Given the description of an element on the screen output the (x, y) to click on. 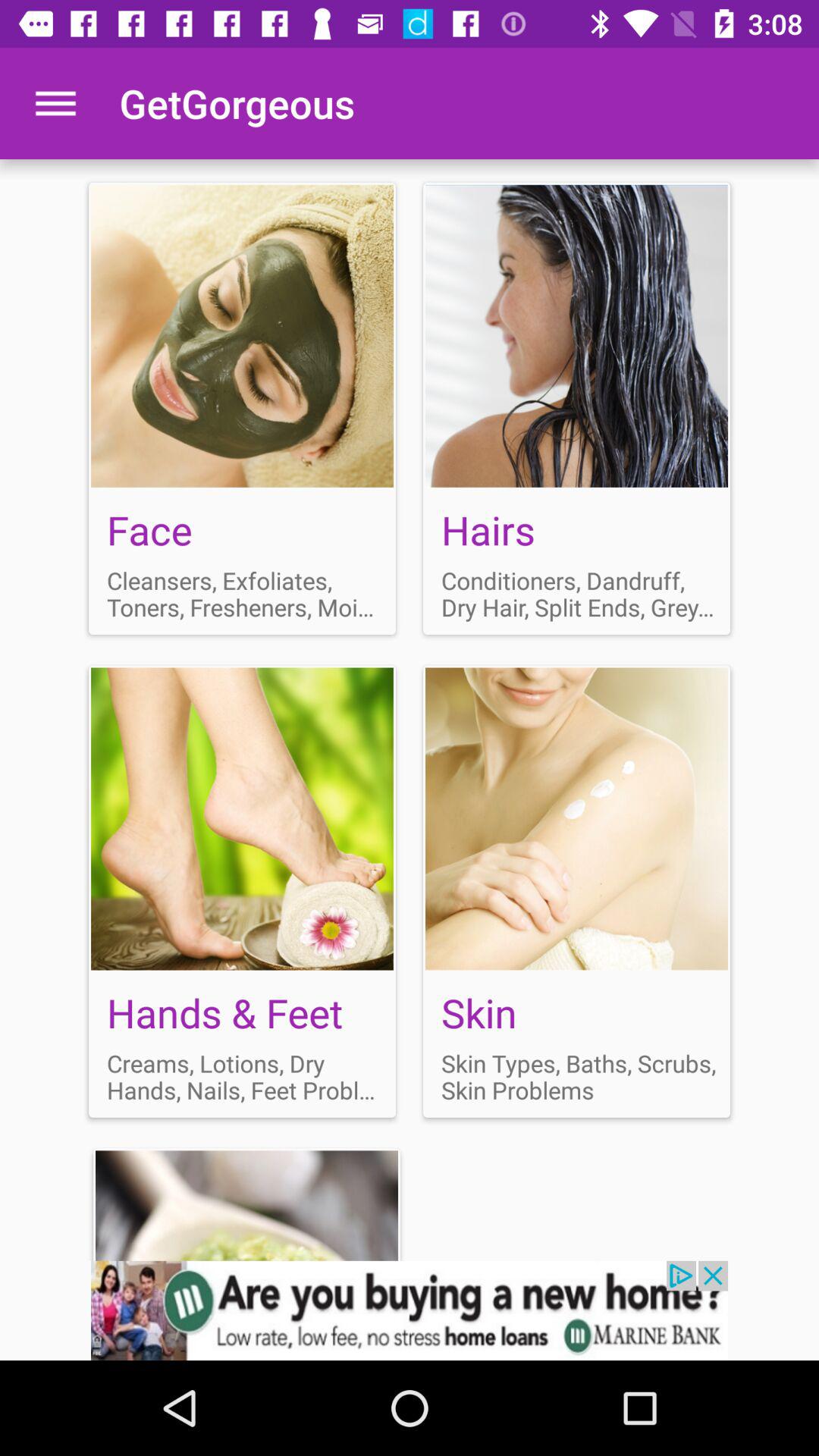
face option box (242, 408)
